Given the description of an element on the screen output the (x, y) to click on. 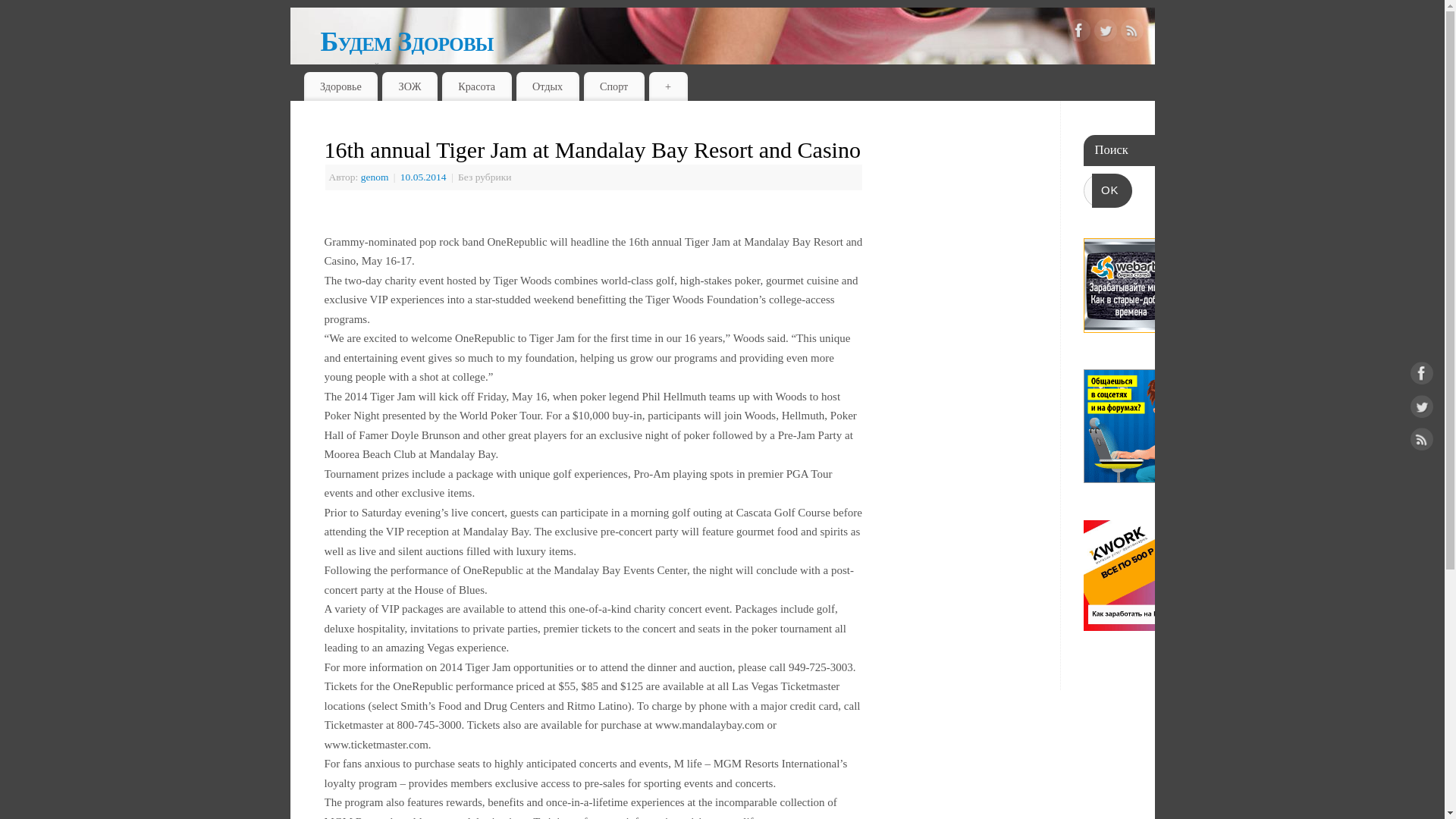
OK (1112, 190)
14:15 (424, 176)
genom (374, 176)
10.05.2014 (424, 176)
